Given the description of an element on the screen output the (x, y) to click on. 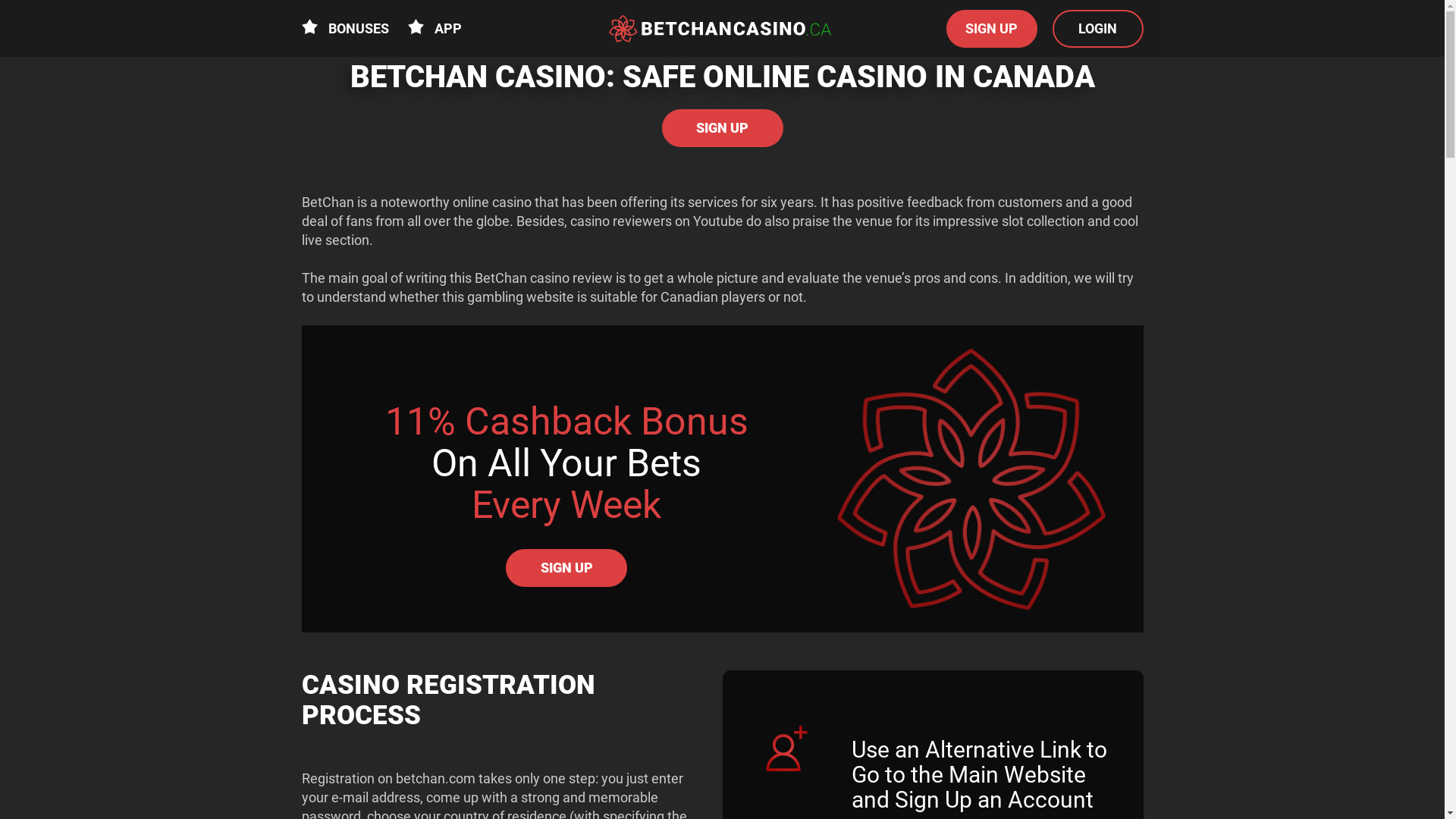
LOGIN Element type: text (1097, 28)
BONUSES Element type: text (345, 28)
SIGN UP Element type: text (991, 28)
APP Element type: text (434, 28)
SIGN UP Element type: text (721, 128)
SIGN UP Element type: text (566, 567)
